Given the description of an element on the screen output the (x, y) to click on. 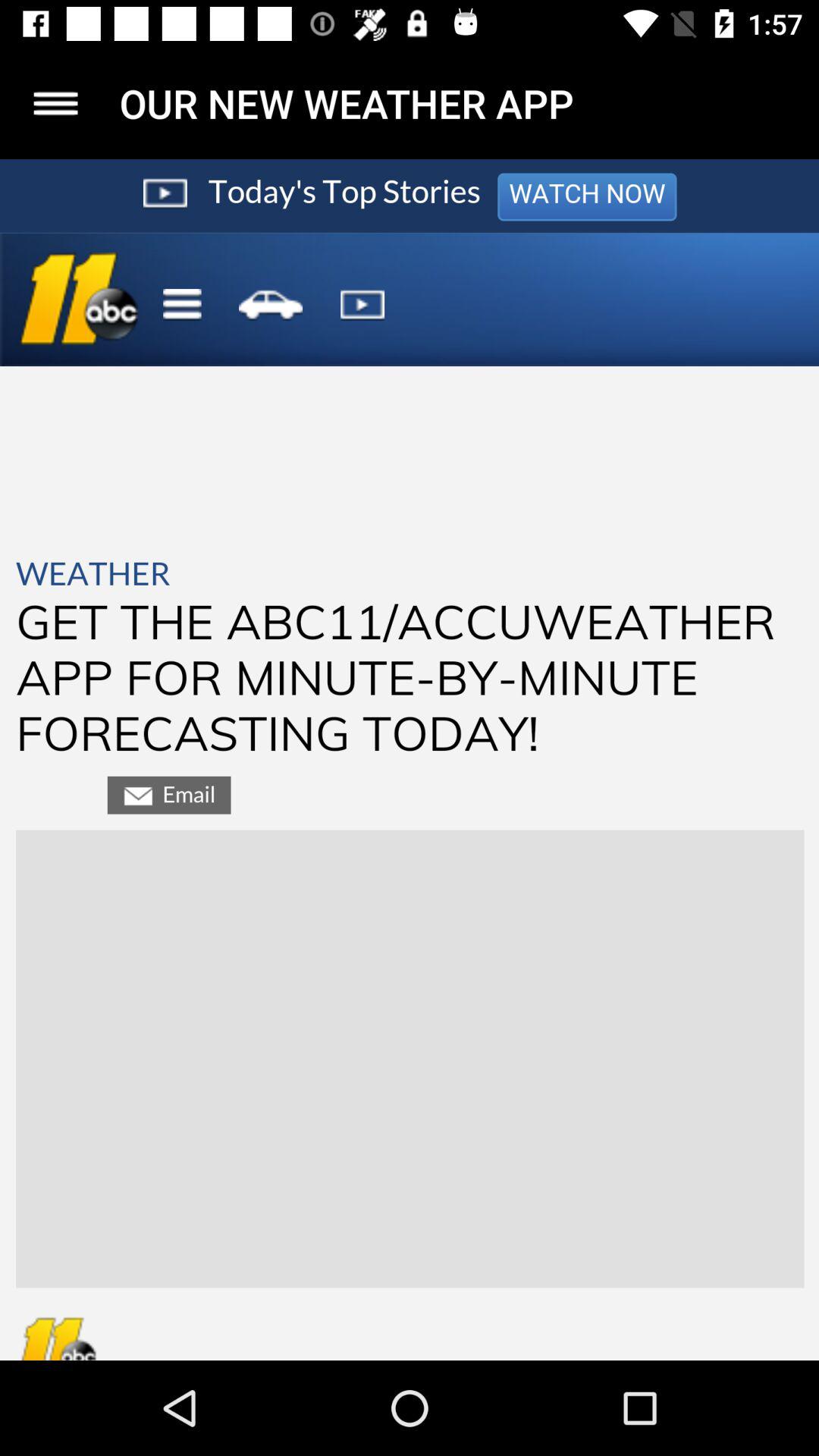
open options (55, 103)
